Given the description of an element on the screen output the (x, y) to click on. 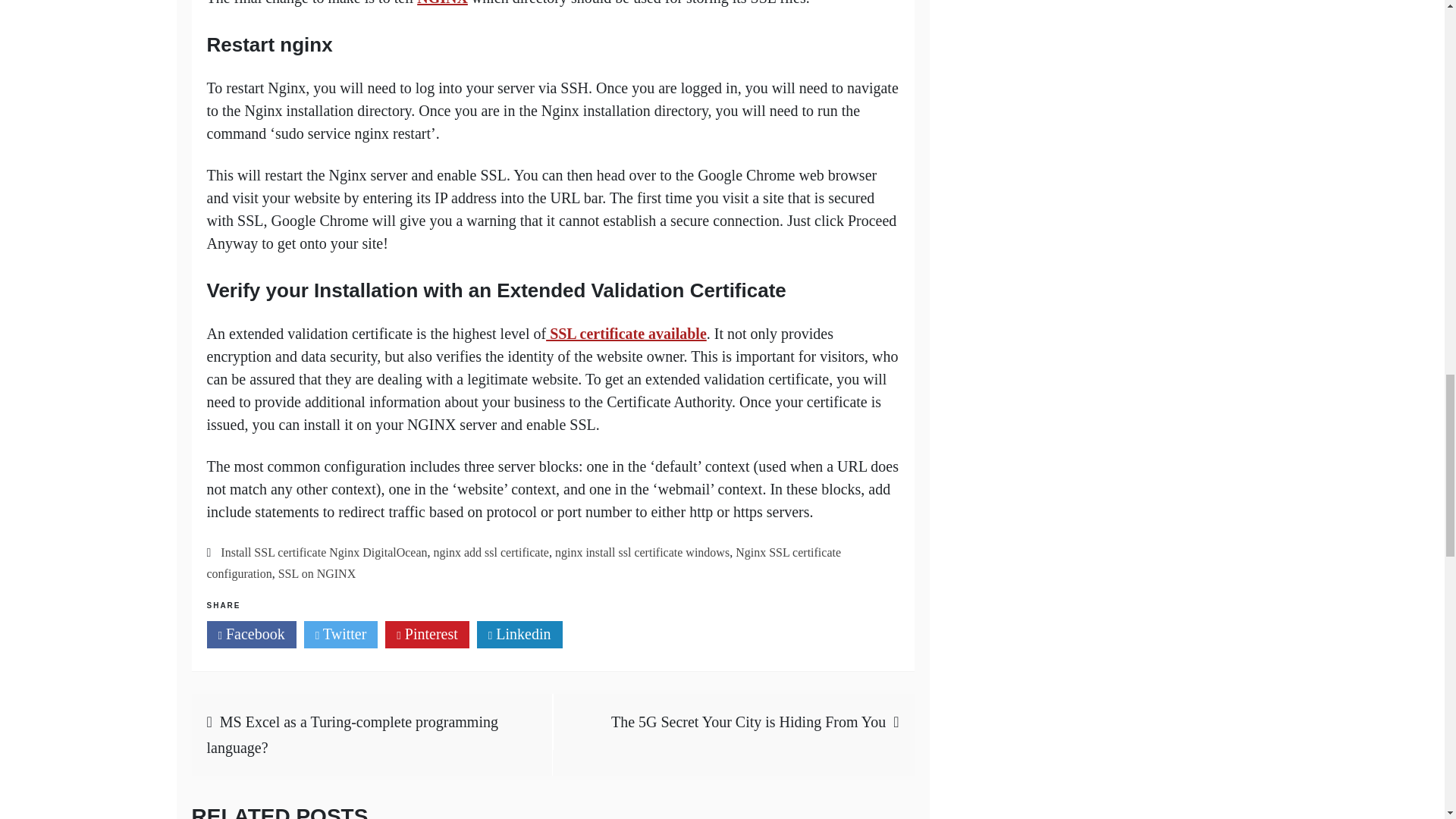
Facebook (250, 634)
SSL certificate available (626, 333)
Twitter (341, 634)
nginx install ssl certificate windows (641, 552)
The 5G Secret Your City is Hiding From You (748, 721)
MS Excel as a Turing-complete programming language? (351, 734)
nginx add ssl certificate (490, 552)
NGINX (441, 2)
SSL on NGINX (317, 573)
Pinterest (426, 634)
Linkedin (519, 634)
Nginx SSL certificate configuration (523, 562)
Install SSL certificate Nginx DigitalOcean (323, 552)
